Given the description of an element on the screen output the (x, y) to click on. 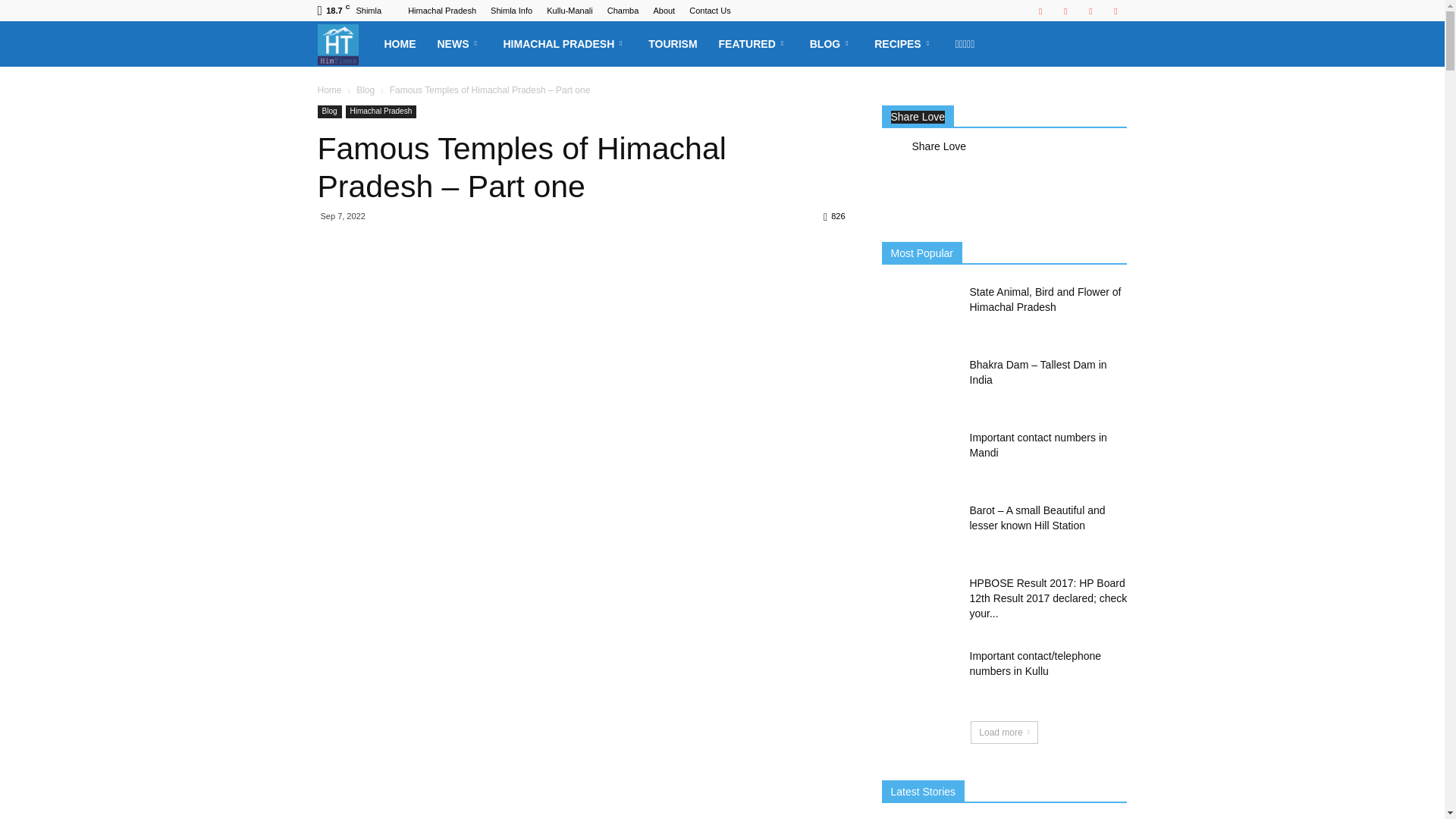
Shimla Info (511, 10)
Chamba (623, 10)
Himachal Pradesh (441, 10)
Twitter (1090, 10)
Kullu-Manali (569, 10)
Facebook (1040, 10)
RSS (1065, 10)
Youtube (1114, 10)
About (663, 10)
